Given the description of an element on the screen output the (x, y) to click on. 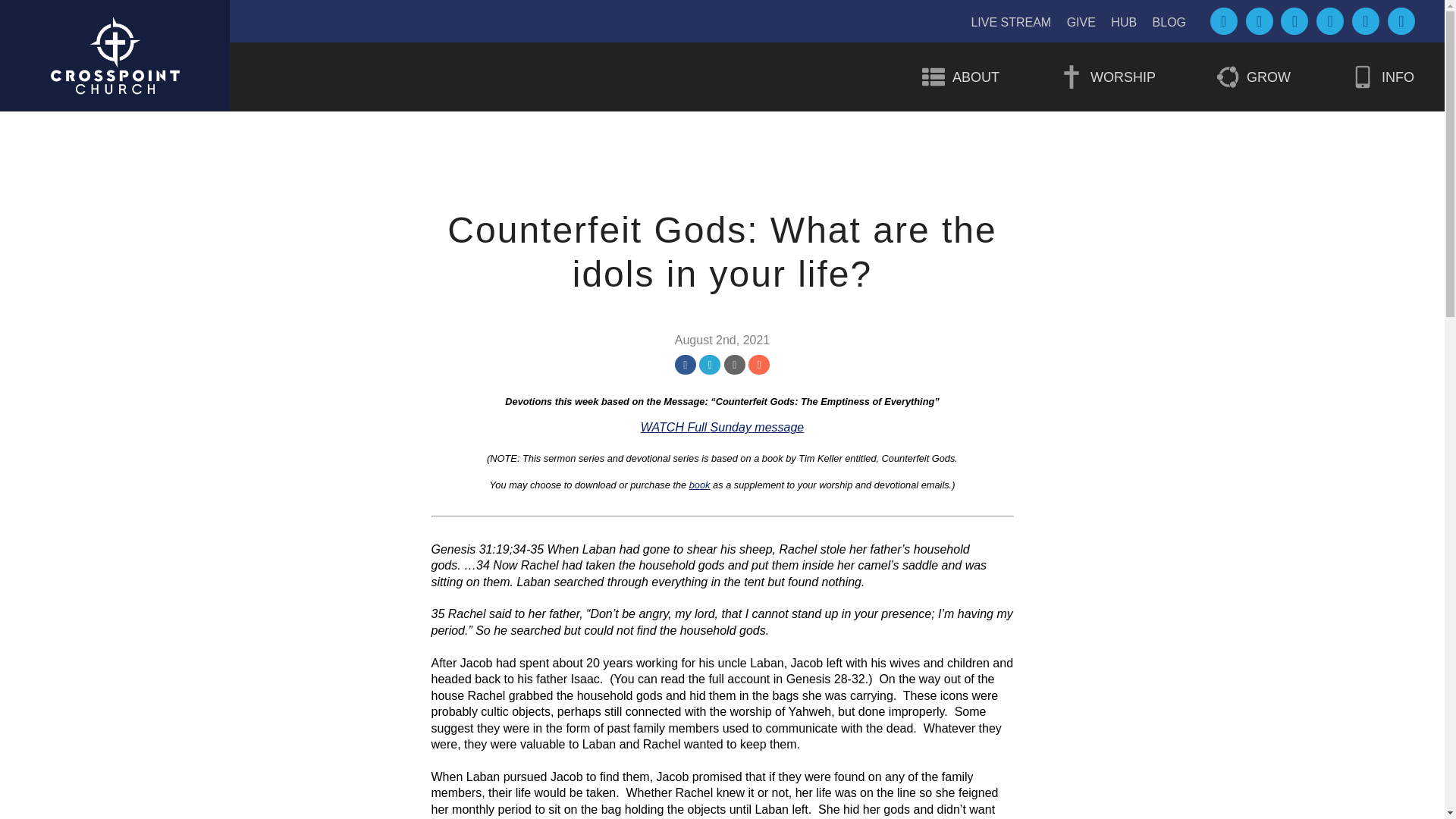
LIVE STREAM (1011, 21)
WATCH Full Sunday message (722, 427)
GROW (1253, 76)
WORSHIP (1107, 76)
BLOG (1169, 21)
HUB (1123, 21)
ABOUT (960, 76)
GIVE (1081, 21)
